Given the description of an element on the screen output the (x, y) to click on. 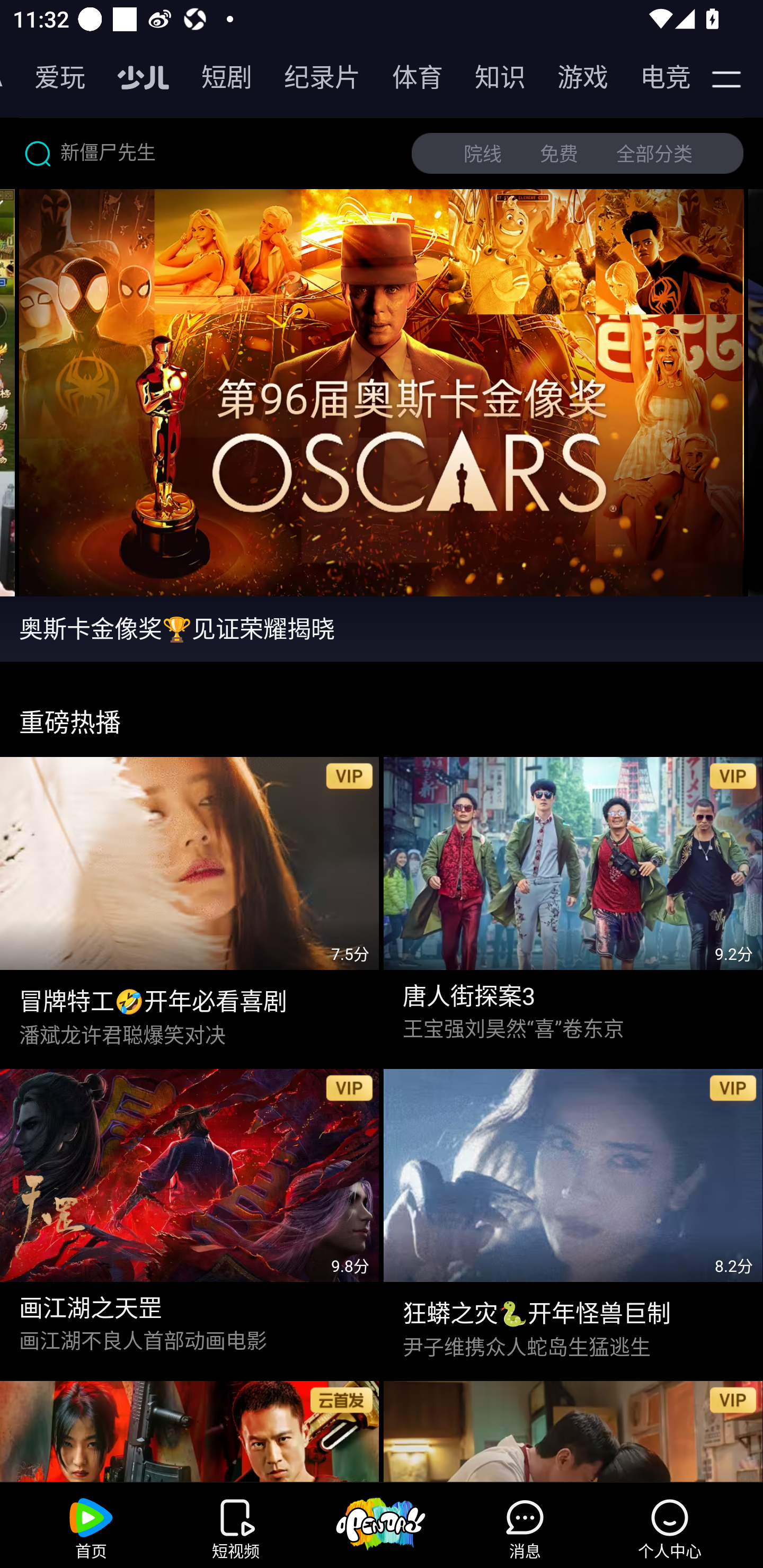
爱玩 (50, 77)
少儿 (133, 77)
短剧 (217, 77)
纪录片 (312, 77)
体育 (408, 77)
知识 (490, 77)
游戏 (572, 77)
电竞 (652, 77)
新僵尸先生 (207, 152)
院线 (482, 153)
免费 (559, 153)
全部分类 (654, 153)
奥斯卡金像奖🏆见证荣耀揭晓 奥斯卡金像奖🏆见证荣耀揭晓，链接 (381, 628)
重磅热播 (381, 713)
冒牌特工🤣开年必看喜剧,7.5分,链接 冒牌特工🤣开年必看喜剧 潘斌龙许君聪爆笑对决 (189, 903)
唐人街探案3,9.2分,链接 唐人街探案3 王宝强刘昊然“喜”卷东京 (572, 903)
画江湖之天罡,9.8分,链接 画江湖之天罡 画江湖不良人首部动画电影 (189, 1215)
狂蟒之灾🐍开年怪兽巨制,8.2分,链接 狂蟒之灾🐍开年怪兽巨制 尹子维携众人蛇岛生猛逃生 (572, 1215)
